Given the description of an element on the screen output the (x, y) to click on. 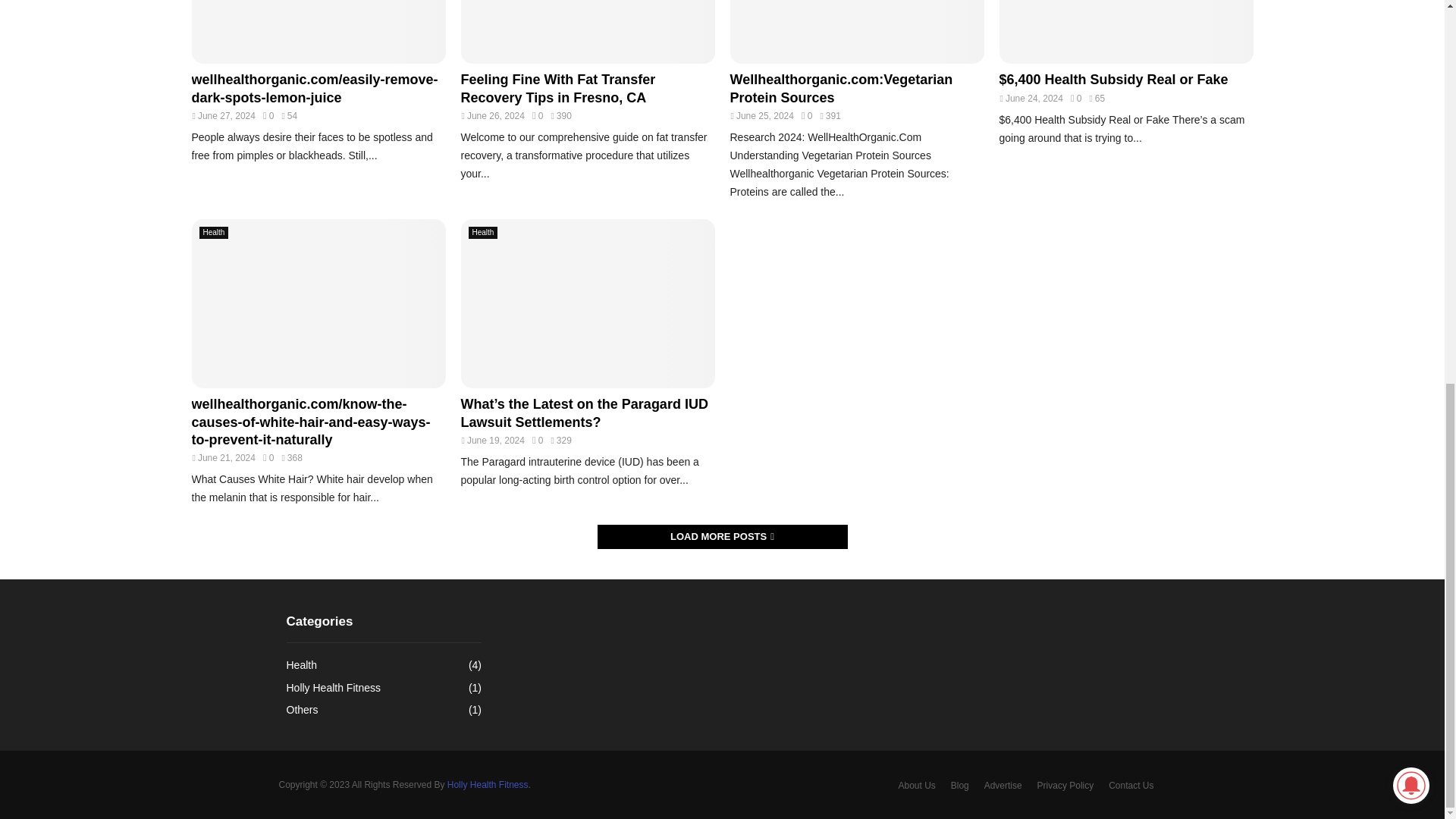
Feeling Fine With Fat Transfer Recovery Tips in Fresno, CA (558, 88)
0 (807, 115)
Wellhealthorganic.com:Vegetarian Protein Sources (856, 31)
View all posts in Health (213, 232)
Feeling Fine With Fat Transfer Recovery Tips in Fresno, CA (587, 31)
0 (537, 115)
 Wellhealthorganic.com:Vegetarian Protein Sources  (840, 88)
 Feeling Fine With Fat Transfer Recovery Tips in Fresno, CA  (558, 88)
0 (268, 115)
Wellhealthorganic.com:Vegetarian Protein Sources (840, 88)
